Given the description of an element on the screen output the (x, y) to click on. 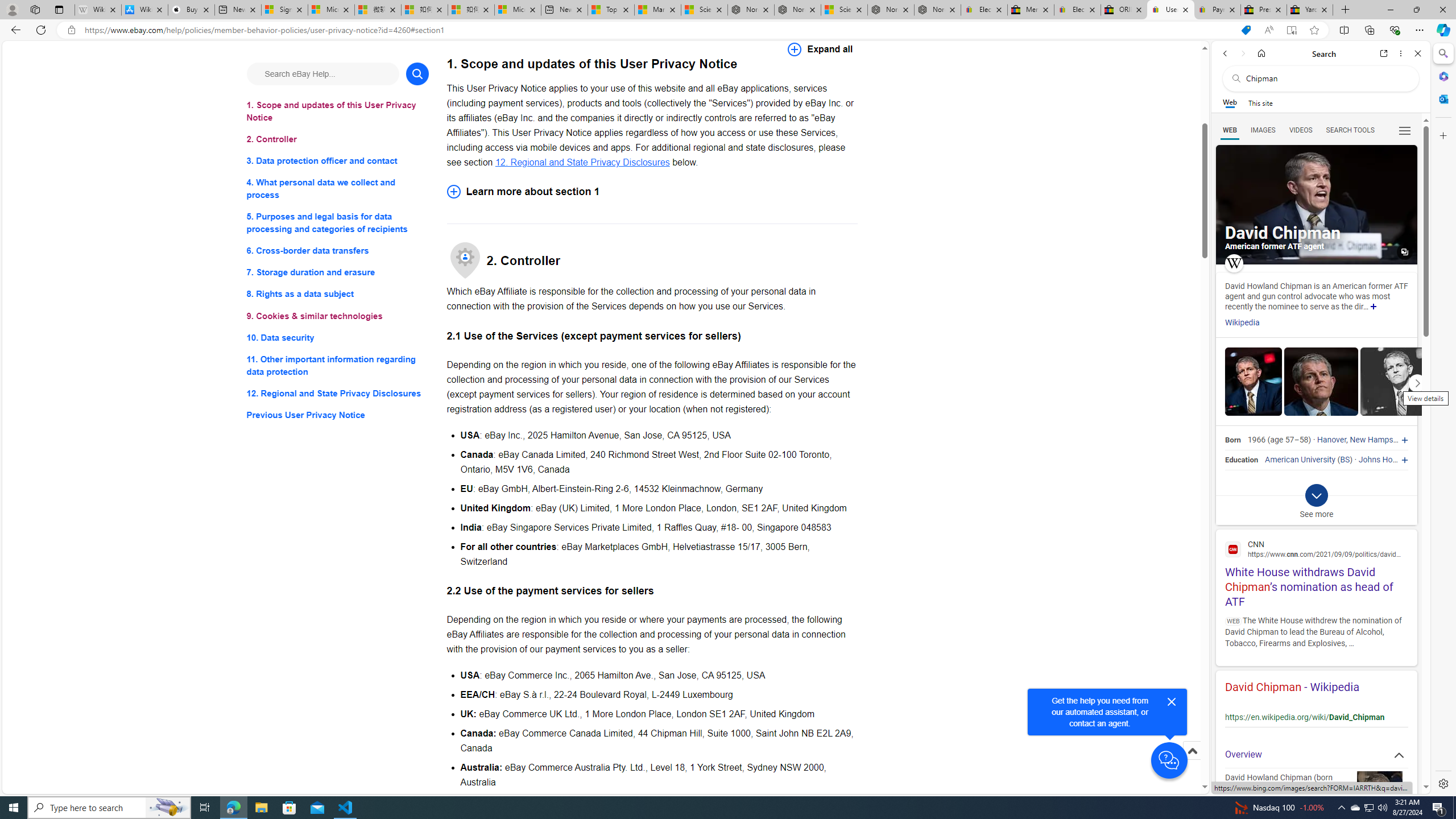
2. Controller (337, 138)
Education (1240, 459)
3. Data protection officer and contact (337, 160)
Johns Hopkins University (1403, 460)
7. Storage duration and erasure (337, 272)
All images (1404, 252)
